Given the description of an element on the screen output the (x, y) to click on. 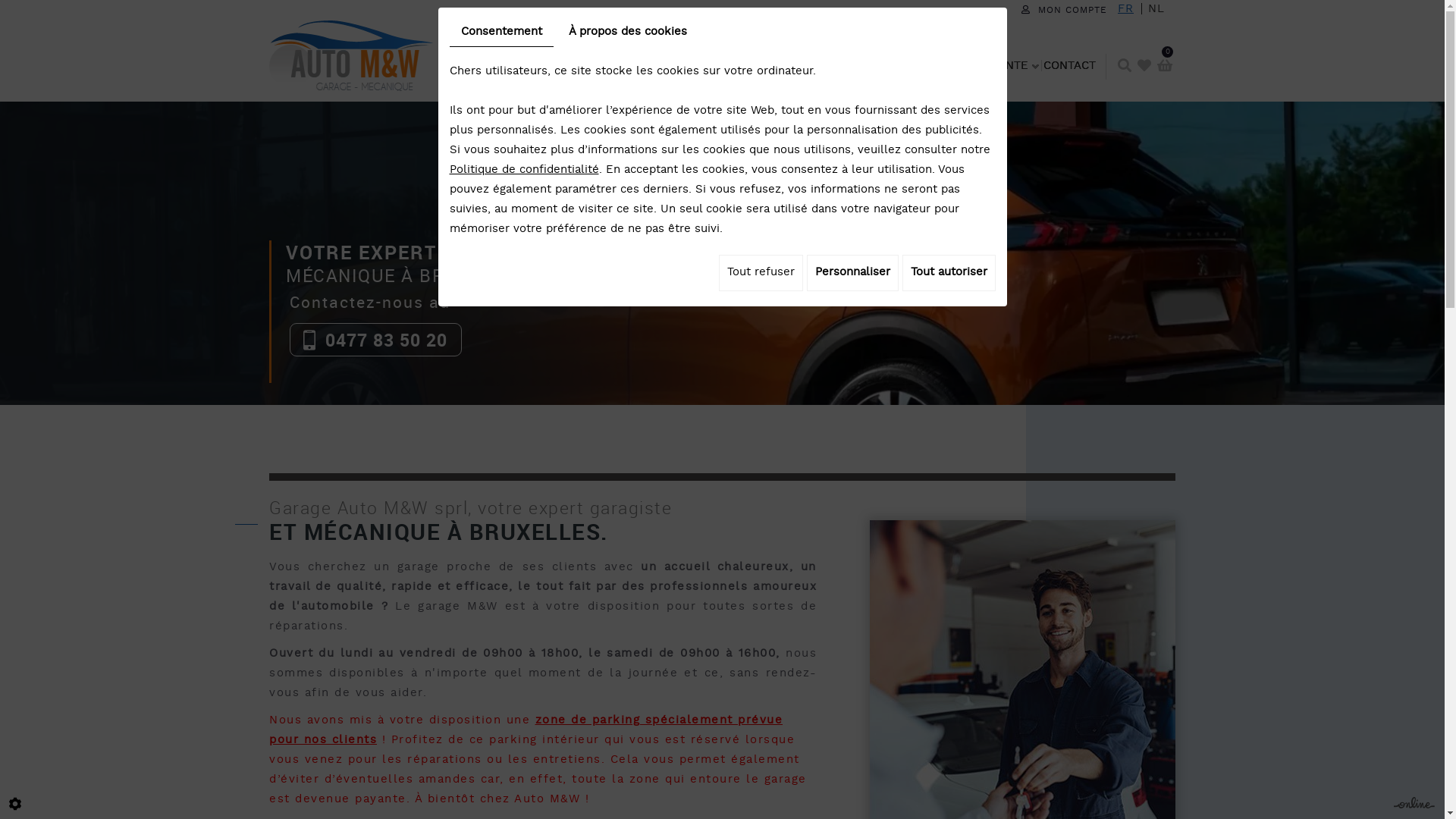
Personnaliser Element type: text (852, 272)
ACHAT/VENTE Element type: text (993, 64)
NL Element type: text (1156, 9)
FR Element type: text (1125, 9)
Contactez-nous au
0477 83 50 20 Element type: text (365, 336)
Tout refuser Element type: text (760, 272)
Consentement Element type: text (500, 32)
MON COMPTE Element type: text (1063, 10)
Tout autoriser Element type: text (948, 272)
CONTACT Element type: text (1069, 64)
Ma liste de souhaits Element type: hover (1144, 65)
ACCUEIL Element type: text (472, 64)
